Given the description of an element on the screen output the (x, y) to click on. 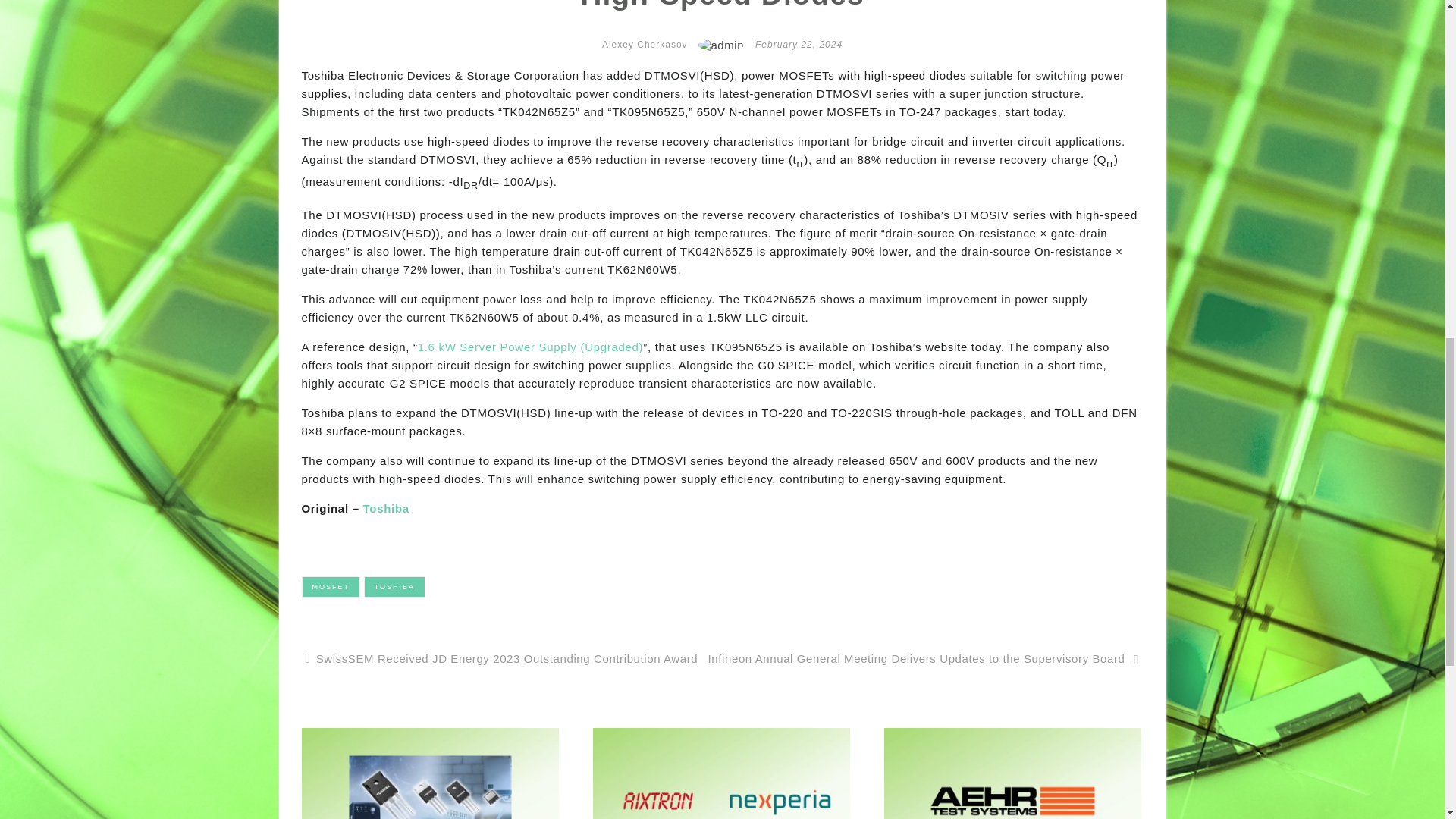
Toshiba (385, 508)
Posts by Alexey Cherkasov (644, 44)
MOSFET (331, 586)
TOSHIBA (394, 586)
Alexey Cherkasov (644, 44)
